Given the description of an element on the screen output the (x, y) to click on. 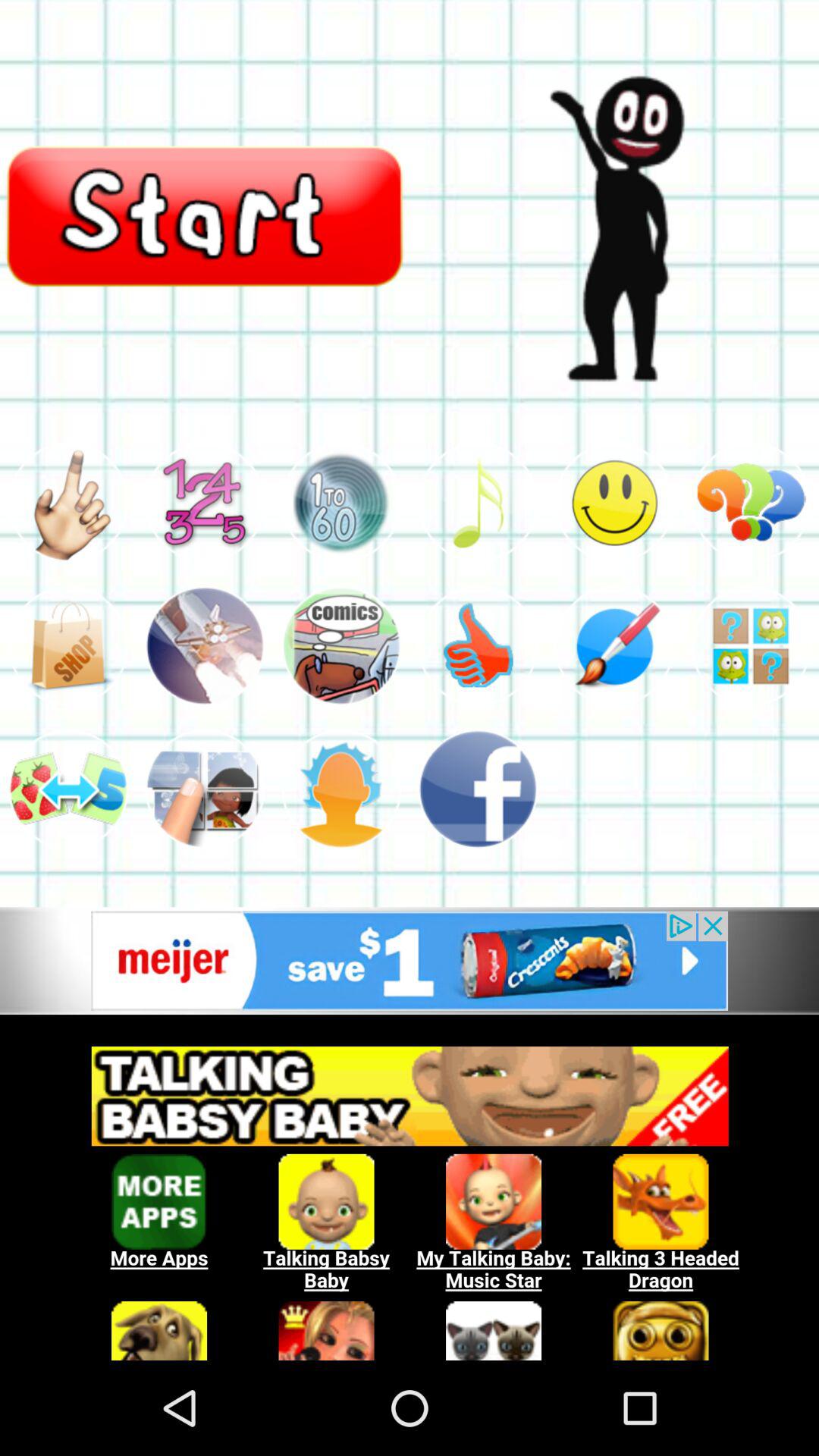
select to start (614, 502)
